Given the description of an element on the screen output the (x, y) to click on. 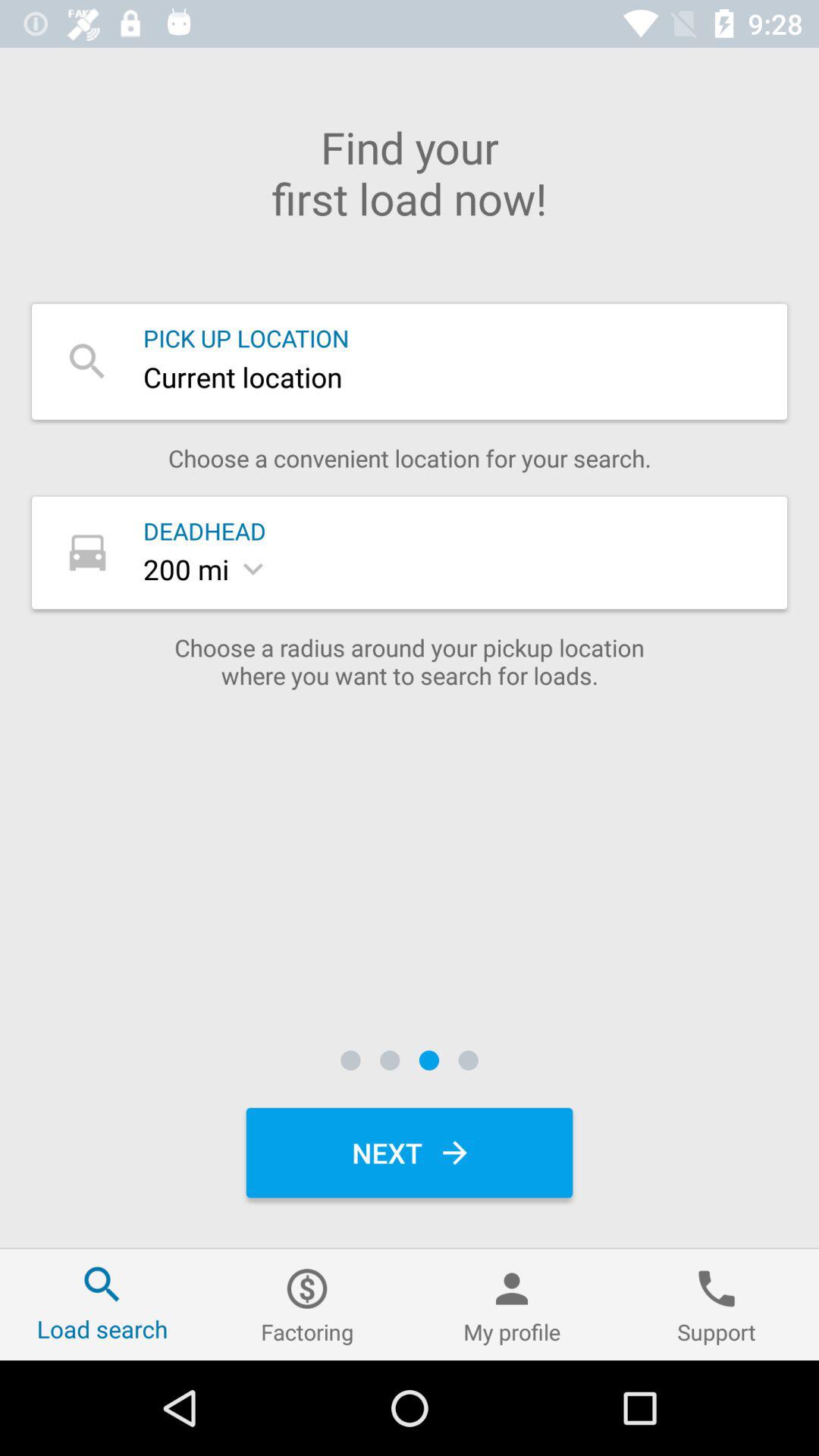
jump until the next (409, 1152)
